Given the description of an element on the screen output the (x, y) to click on. 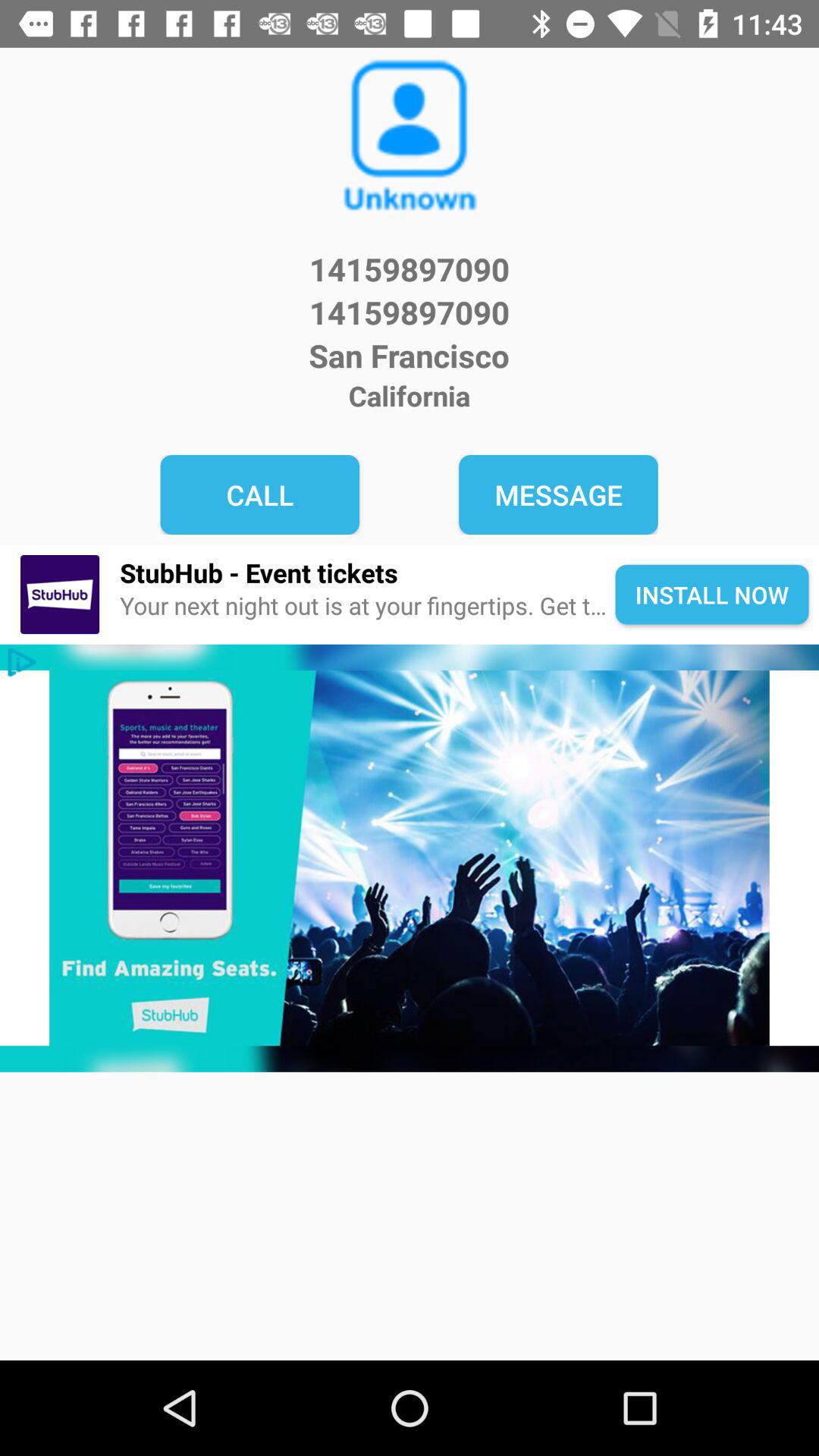
open the icon next to the stubhub - event tickets (59, 594)
